Given the description of an element on the screen output the (x, y) to click on. 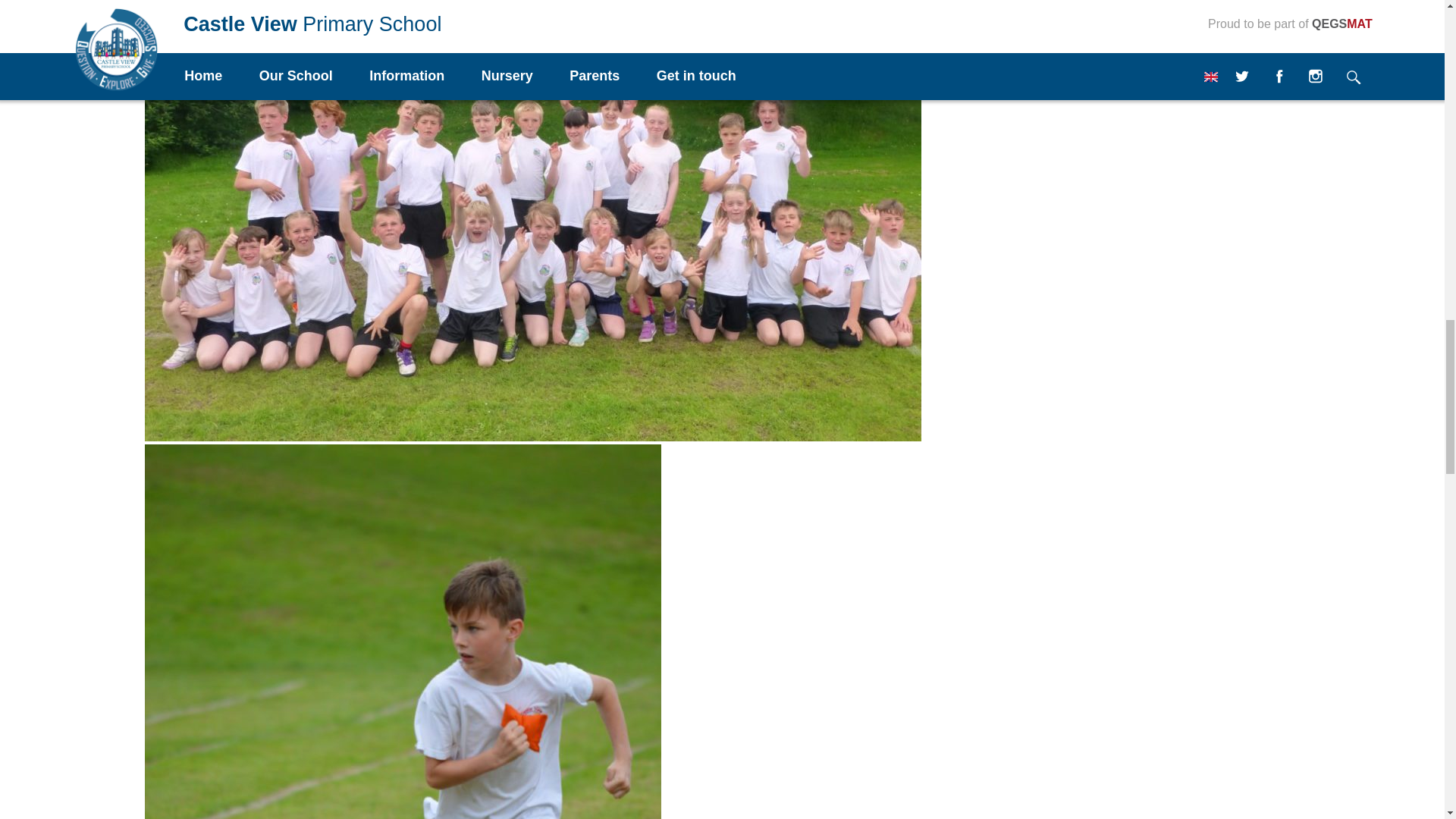
P1050118 (532, 436)
